Given the description of an element on the screen output the (x, y) to click on. 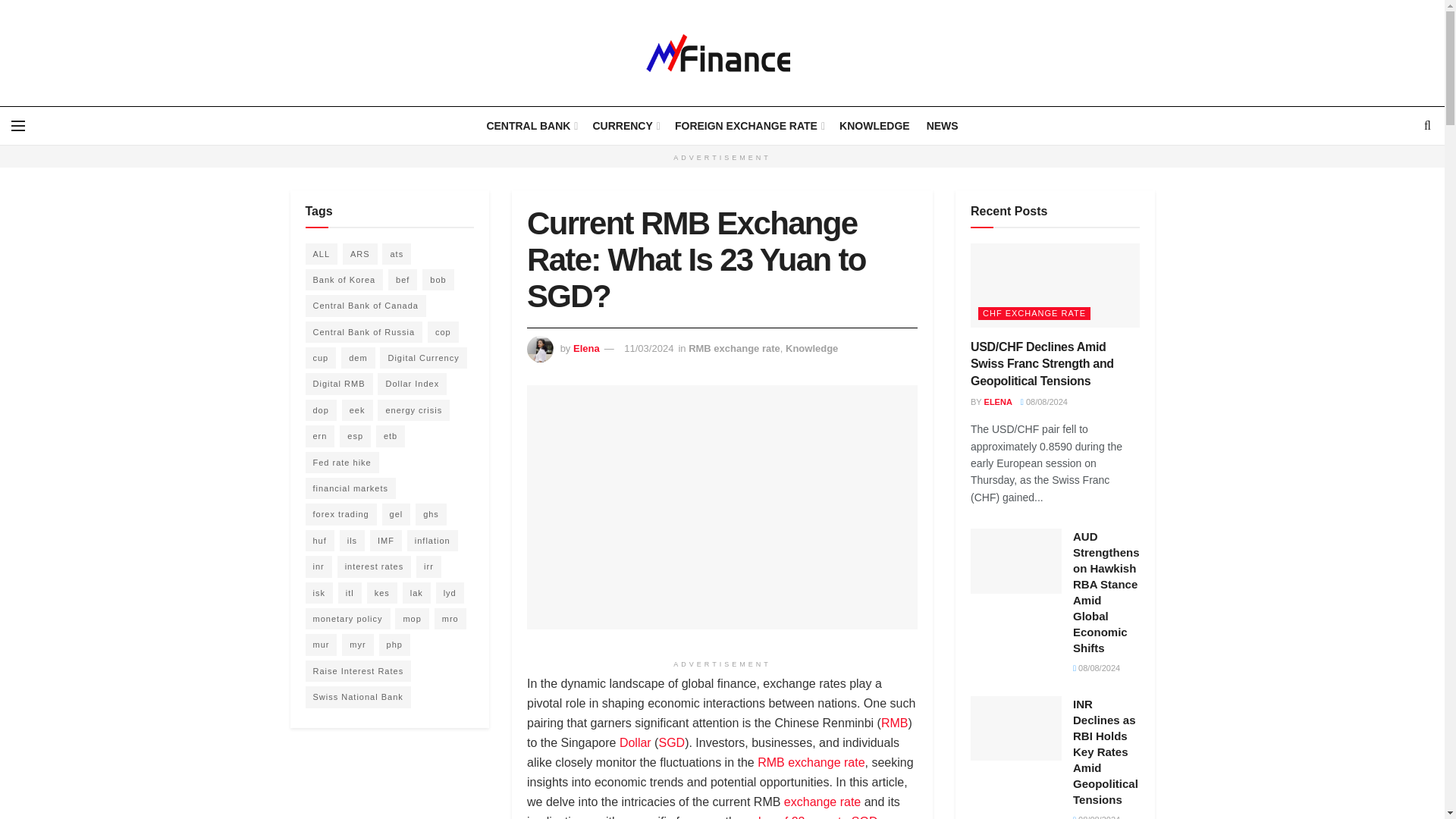
CENTRAL BANK (530, 125)
KNOWLEDGE (875, 125)
NEWS (942, 125)
CURRENCY (625, 125)
FOREIGN EXCHANGE RATE (748, 125)
